Given the description of an element on the screen output the (x, y) to click on. 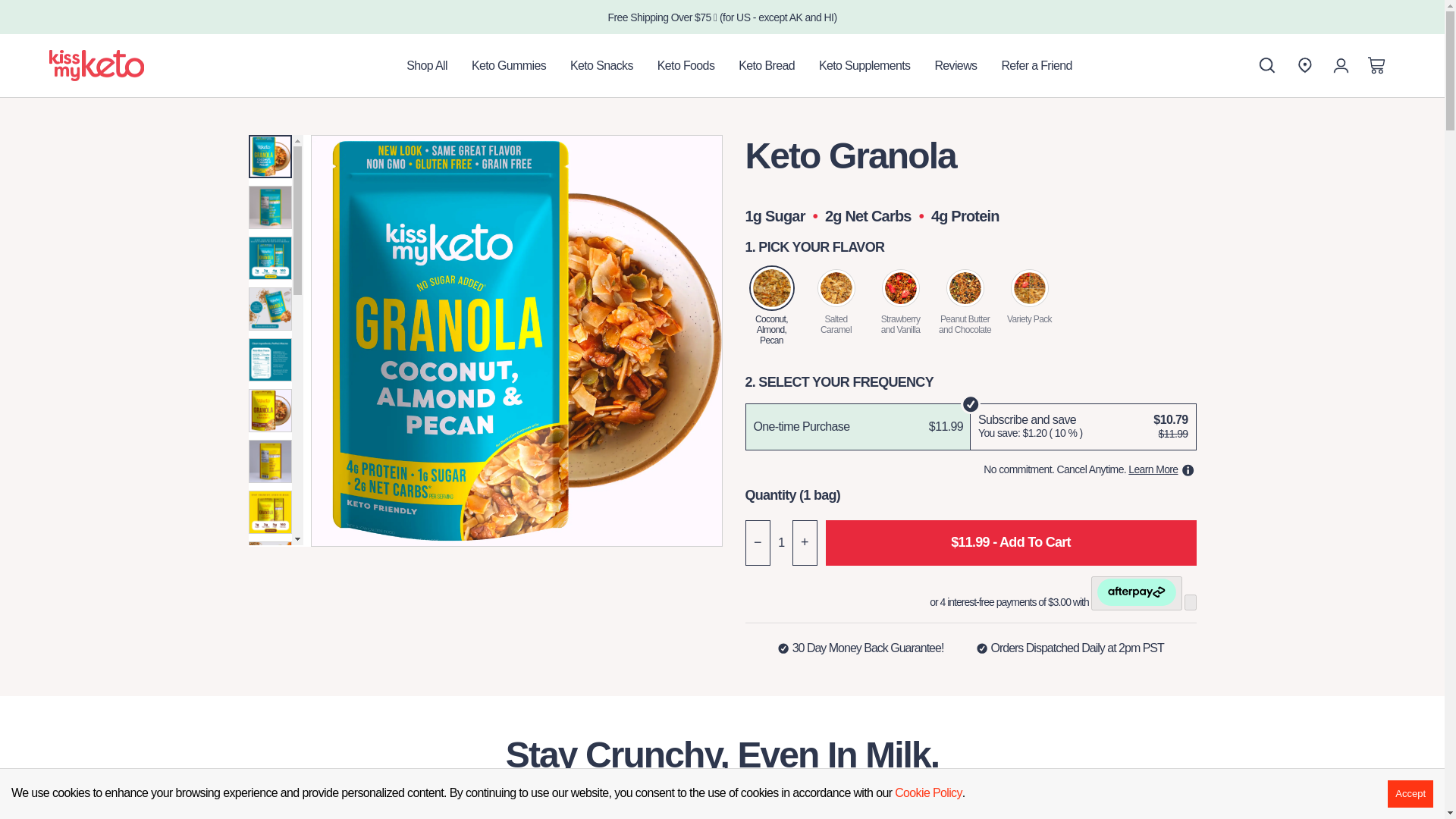
Keto Snacks (601, 65)
Keto Gummies (508, 65)
Reviews (954, 65)
Keto Supplements (864, 65)
Accept (1409, 793)
Keto Foods (685, 65)
Cookie Policy (928, 792)
Keto Bread (766, 65)
Refer a Friend (1035, 65)
Shop All (427, 65)
